Given the description of an element on the screen output the (x, y) to click on. 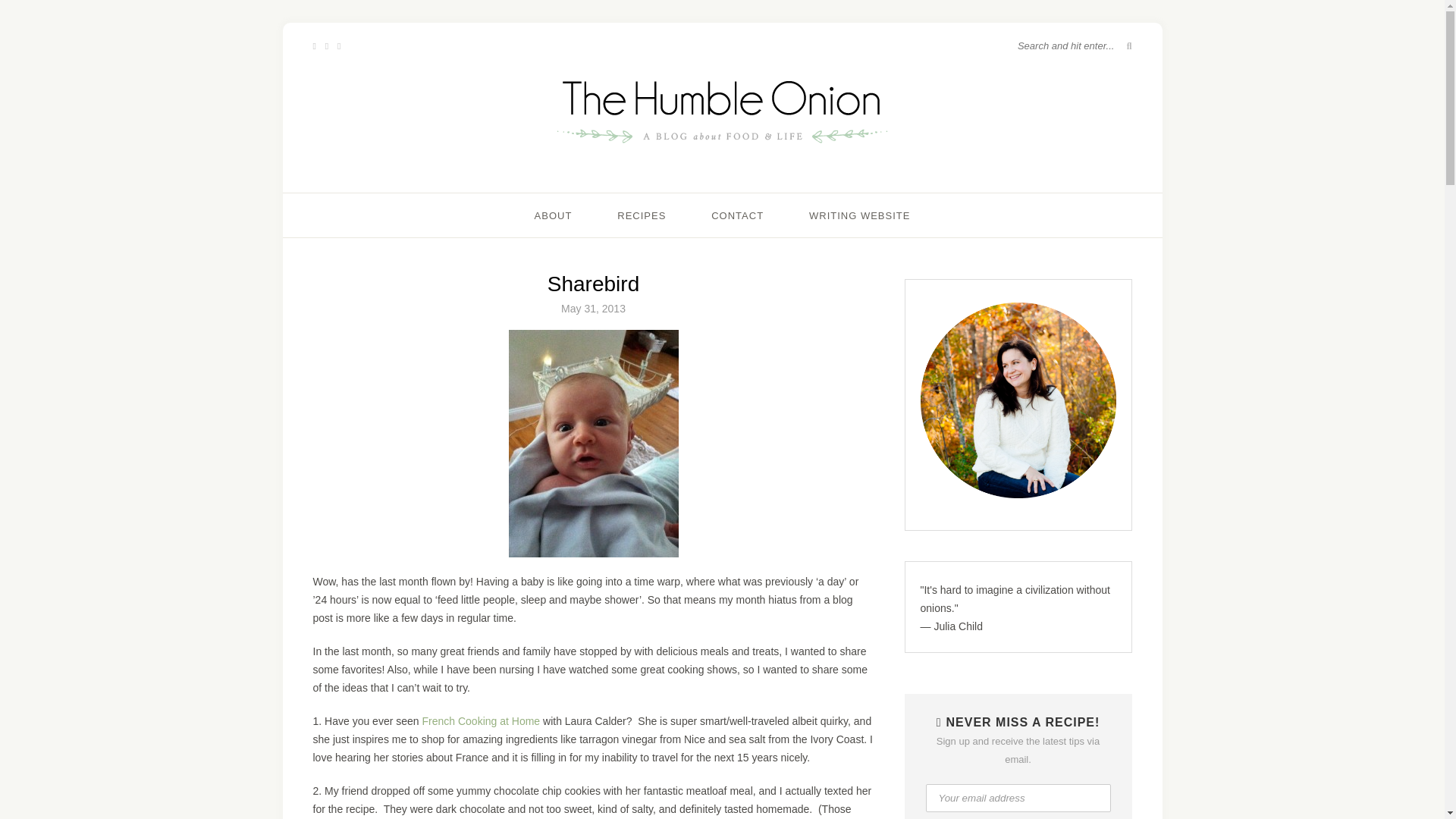
French Cooking at Home (481, 720)
May 31, 2013 (593, 308)
RECIPES (641, 216)
CONTACT (736, 216)
WRITING WEBSITE (859, 216)
